Given the description of an element on the screen output the (x, y) to click on. 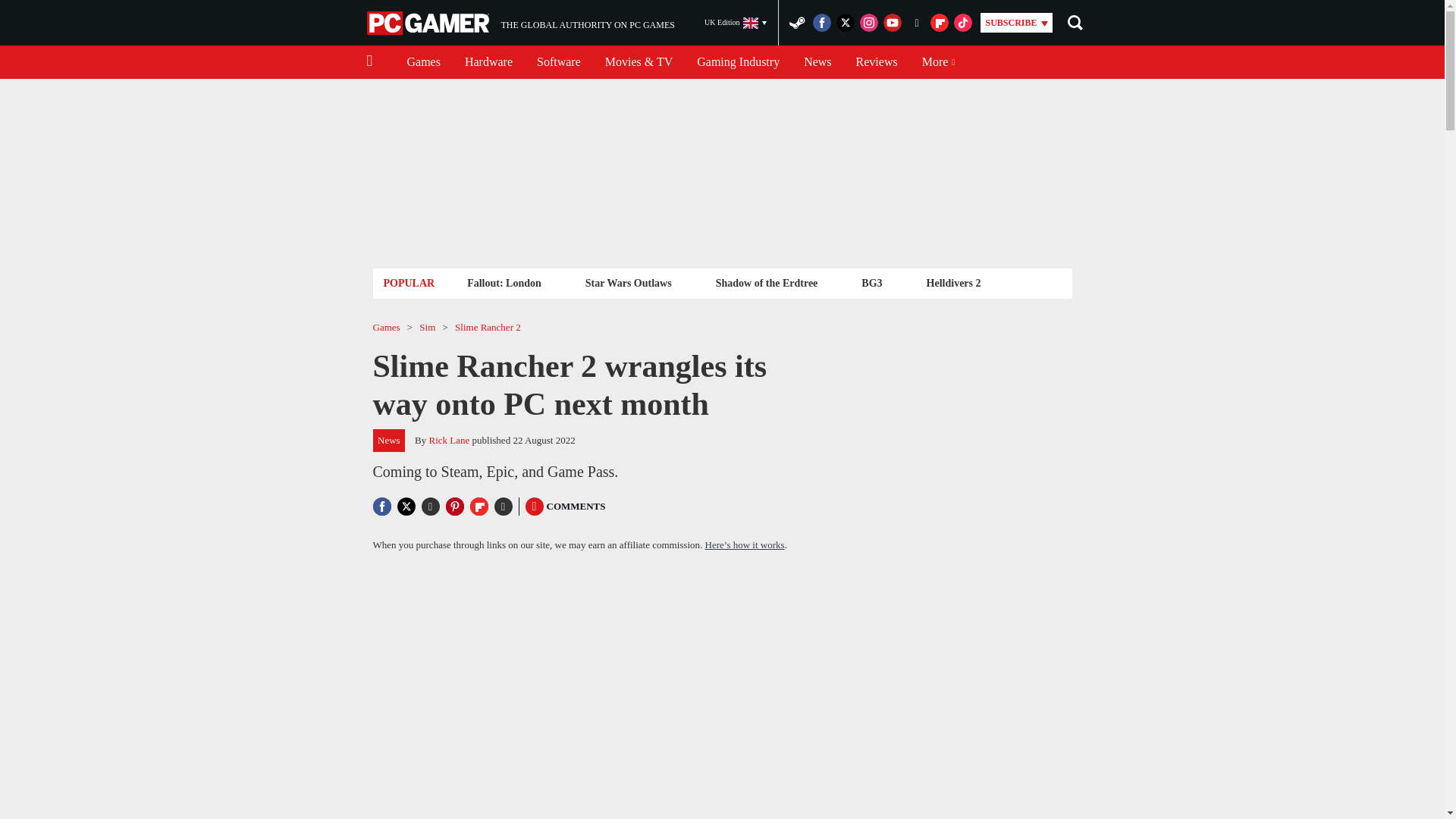
Fallout: London (504, 282)
PC Gamer (429, 22)
Hardware (488, 61)
Gaming Industry (738, 61)
Reviews (877, 61)
Software (558, 61)
Star Wars Outlaws (628, 282)
Games (422, 61)
UK Edition (520, 22)
